Given the description of an element on the screen output the (x, y) to click on. 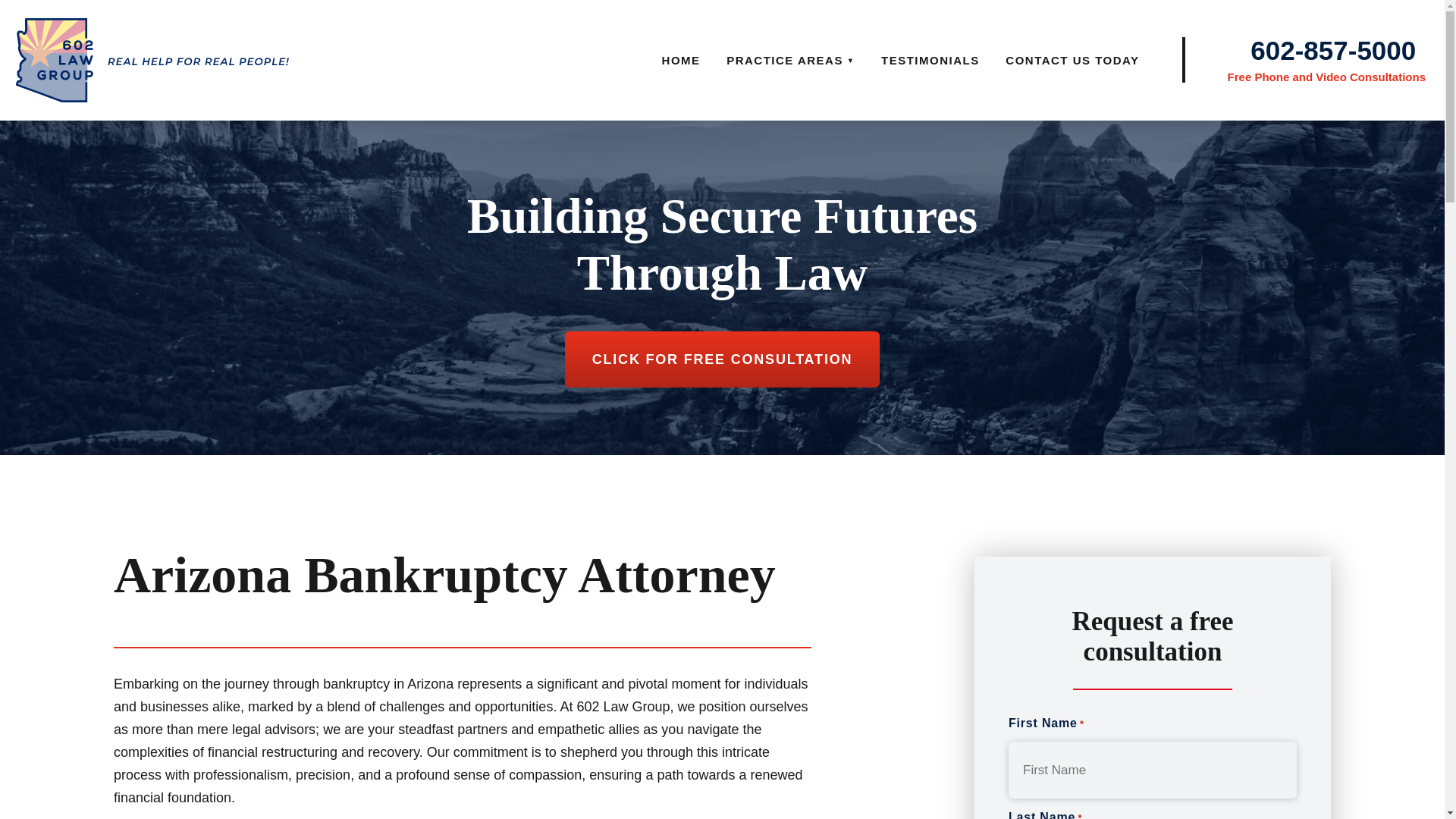
PRACTICE AREAS (790, 60)
TESTIMONIALS (929, 60)
602-857-5000 (1332, 49)
CLICK FOR FREE CONSULTATION (722, 359)
CONTACT US TODAY (1072, 60)
HOME (681, 60)
